Given the description of an element on the screen output the (x, y) to click on. 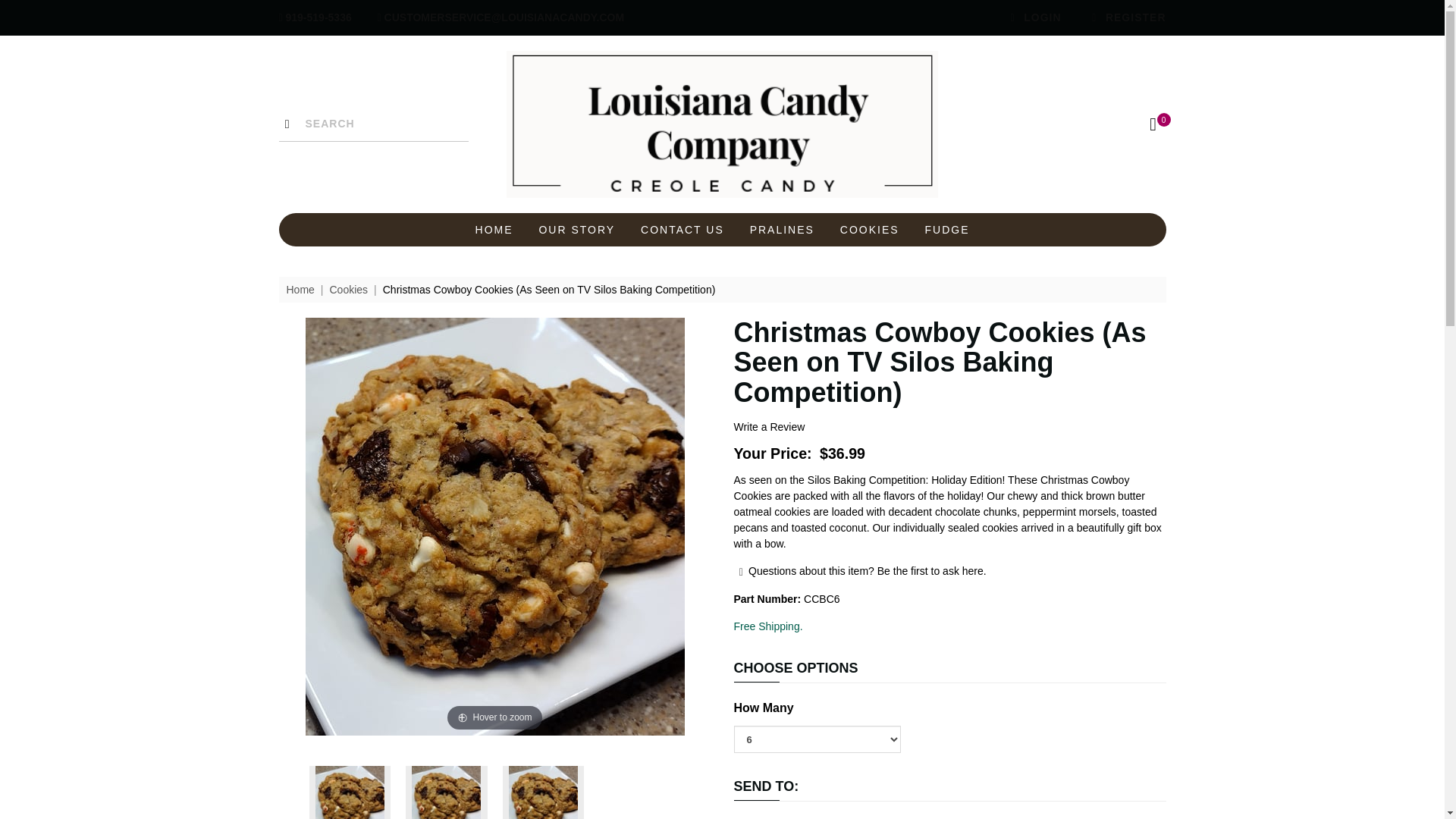
Questions about this item? Be the first to ask here. (860, 571)
FUDGE (945, 229)
Write a Review (769, 426)
PRALINES (781, 229)
Thumbnail (349, 792)
home (722, 124)
HOME (494, 229)
Thumbnail (446, 792)
Louisiana Candy Company (722, 124)
Cookies (348, 289)
COOKIES (869, 229)
0 (1153, 124)
Home (300, 289)
LOGIN (1033, 17)
